Given the description of an element on the screen output the (x, y) to click on. 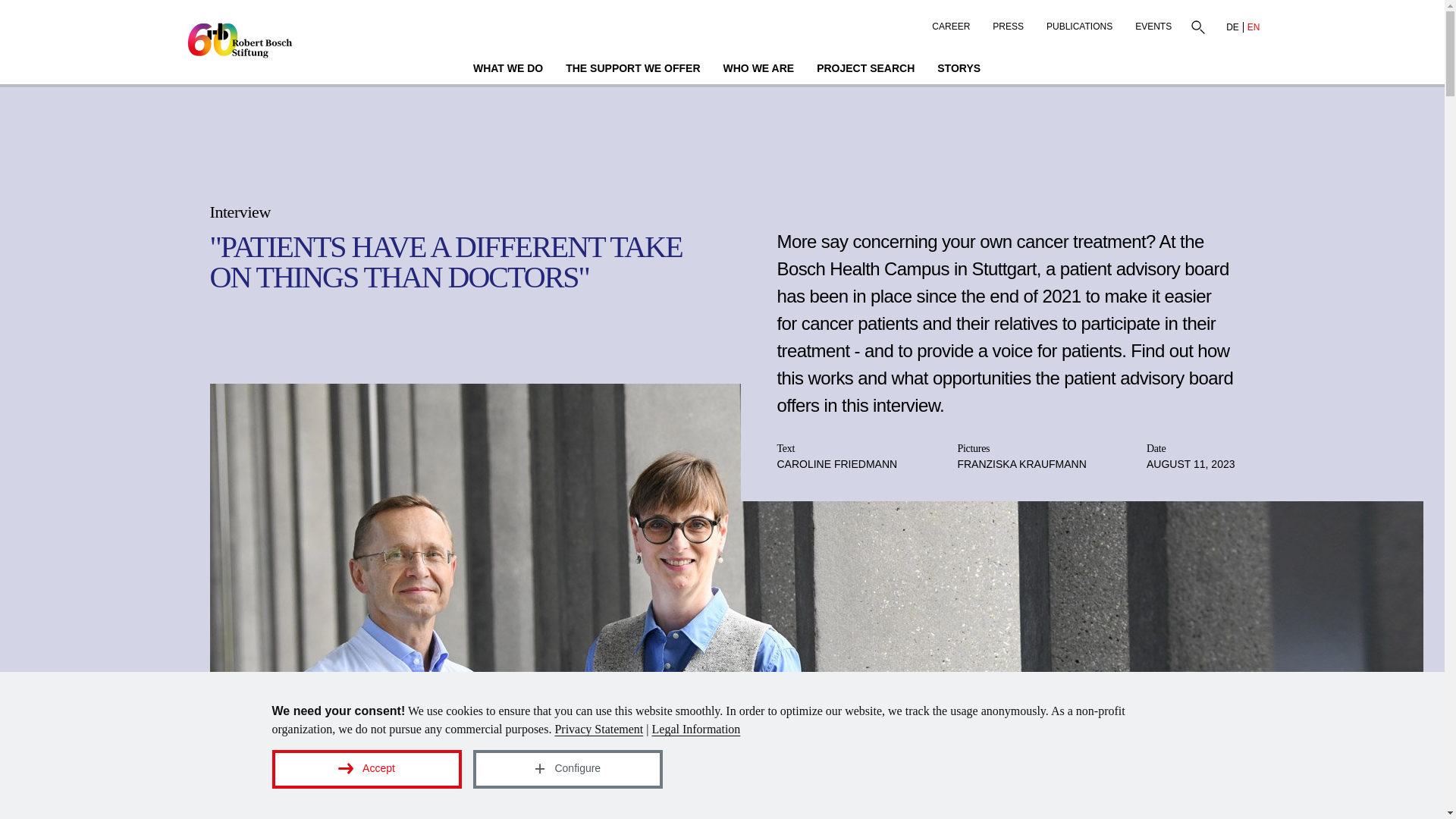
Home (239, 40)
THE SUPPORT WE OFFER (632, 69)
Search (1196, 27)
DE (1233, 27)
WHAT WE DO (507, 69)
English (1253, 27)
EN (1253, 27)
German (1233, 27)
EVENTS (1153, 22)
